Given the description of an element on the screen output the (x, y) to click on. 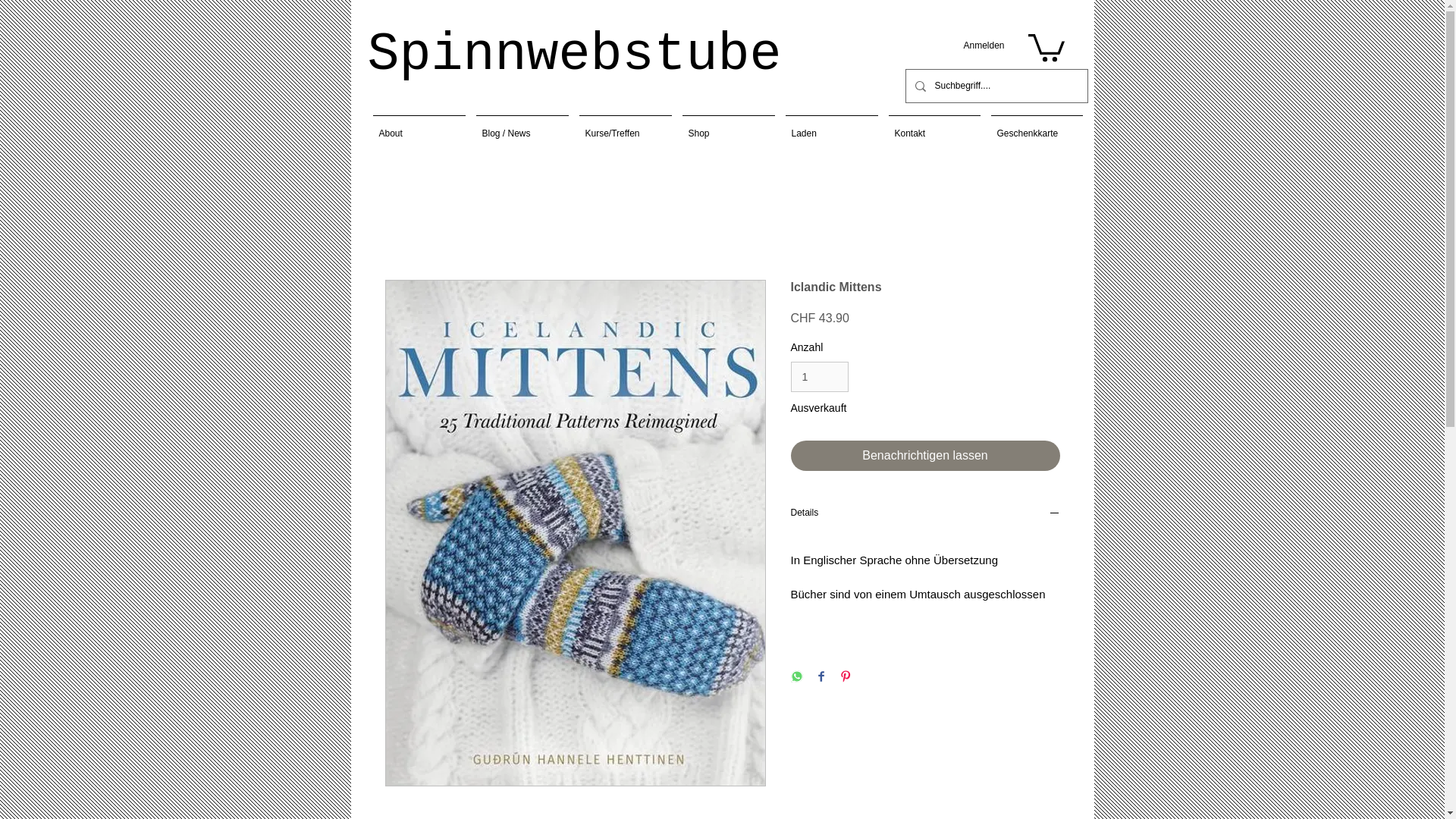
Spinnwebstube (573, 55)
About (418, 126)
Shop (727, 126)
1 (818, 377)
Laden (830, 126)
Benachrichtigen lassen (924, 455)
Anmelden (983, 46)
Geschenkkarte (1036, 126)
Kontakt (933, 126)
Details (924, 514)
